Given the description of an element on the screen output the (x, y) to click on. 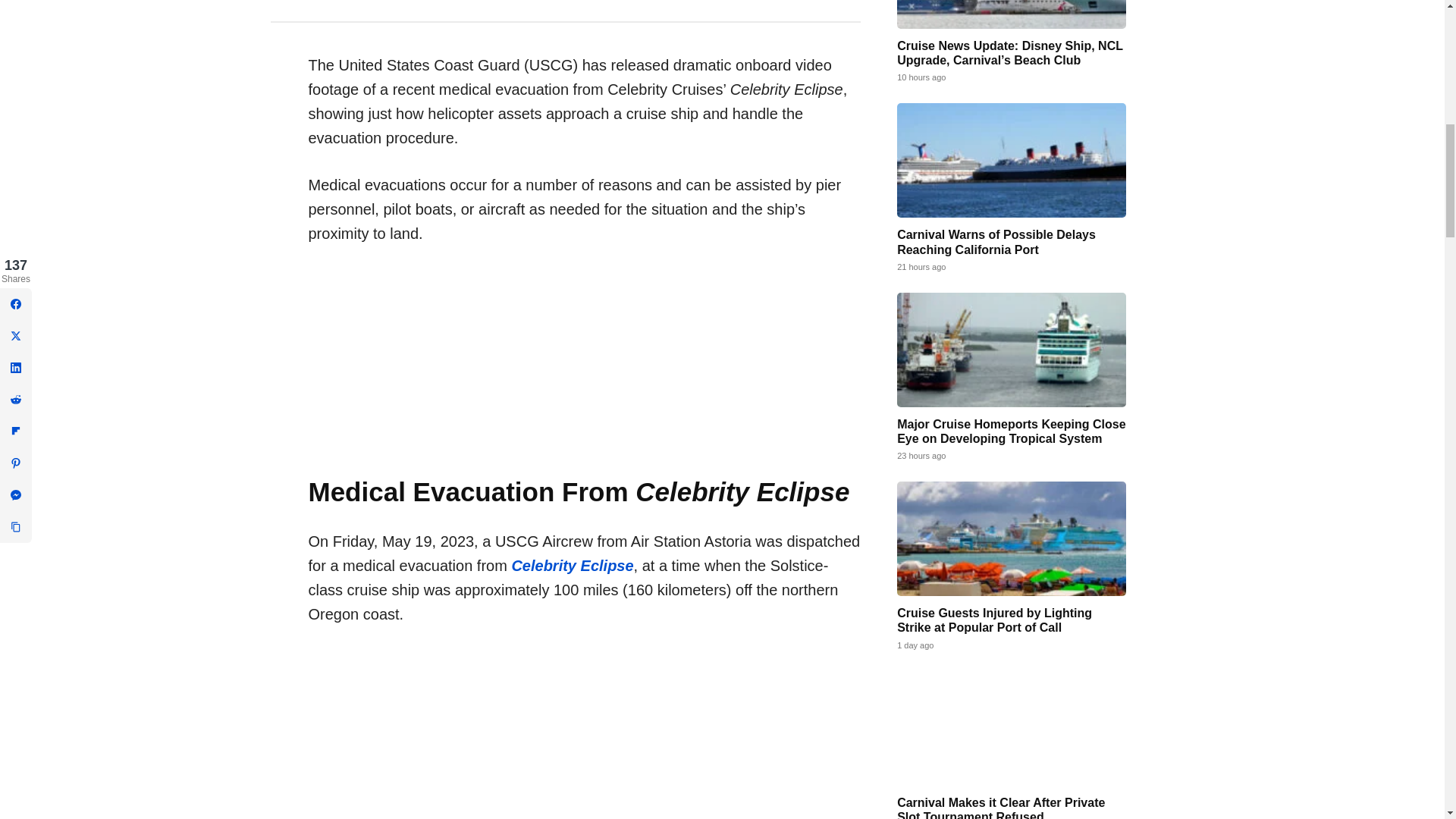
Carnival Warns of Possible Delays Reaching California Port (1010, 160)
Carnival Warns of Possible Delays Reaching California Port (996, 241)
